Given the description of an element on the screen output the (x, y) to click on. 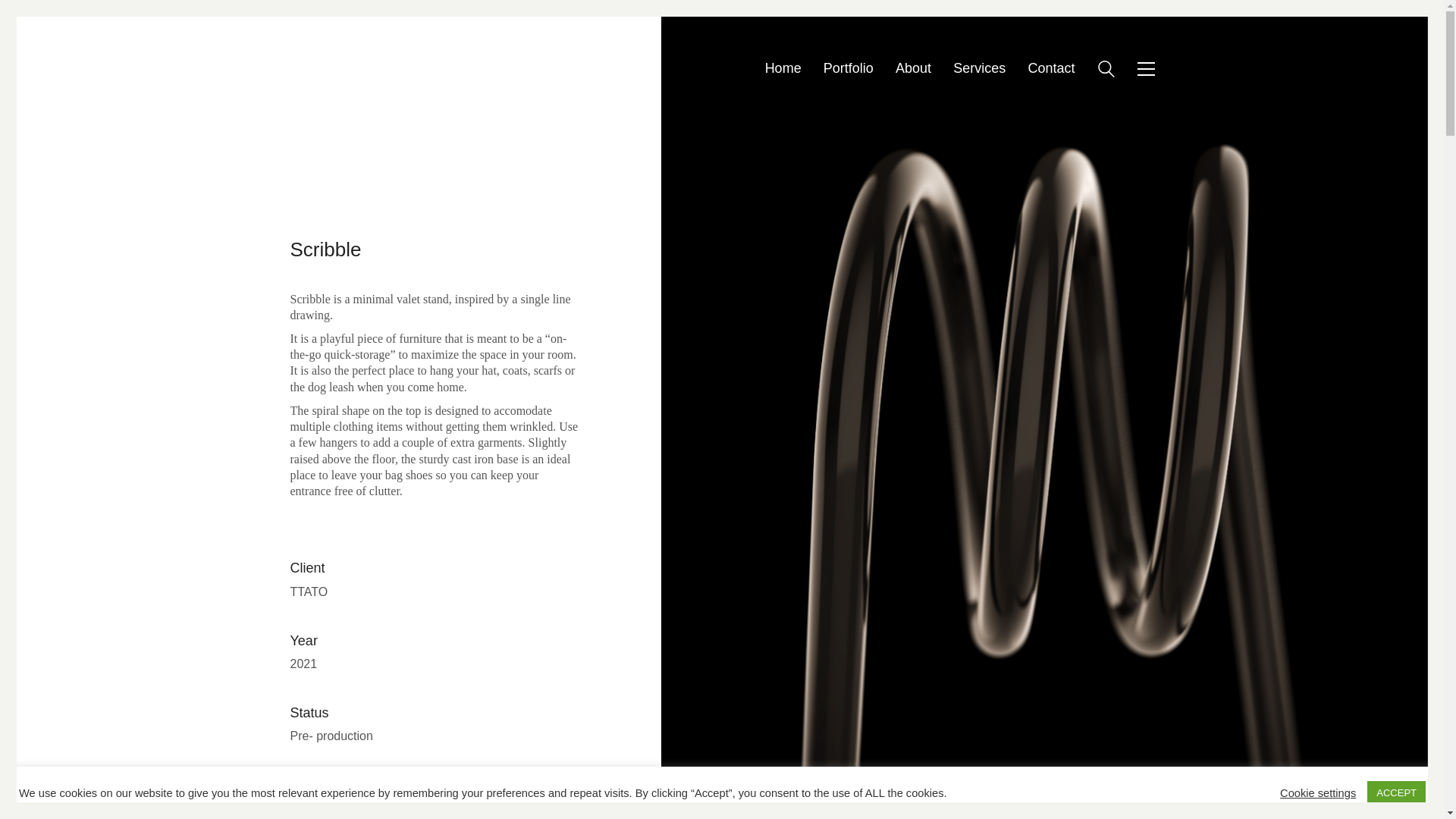
ACCEPT (1396, 792)
About (913, 68)
Portfolio (848, 68)
Contact (1050, 68)
Cookie settings (1317, 792)
Home (783, 68)
Services (979, 68)
